Given the description of an element on the screen output the (x, y) to click on. 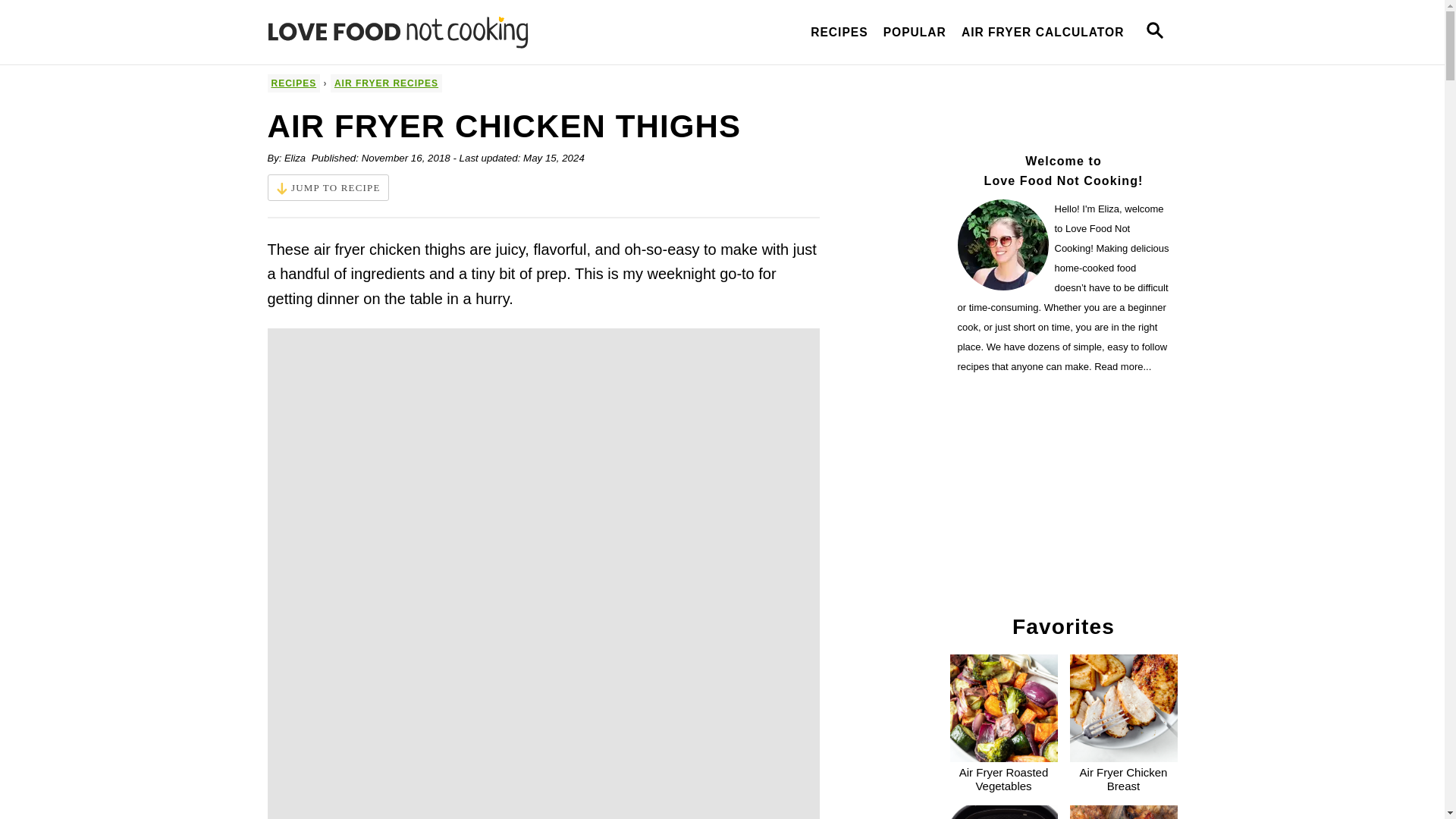
RECIPES (293, 83)
Eliza (294, 157)
SEARCH (1153, 31)
JUMP TO RECIPE (327, 187)
Love Food Not Cooking (403, 32)
JUMP TO RECIPE (327, 187)
POPULAR (914, 31)
AIR FRYER RECIPES (386, 83)
RECIPES (839, 31)
AIR FRYER CALCULATOR (1042, 31)
